Given the description of an element on the screen output the (x, y) to click on. 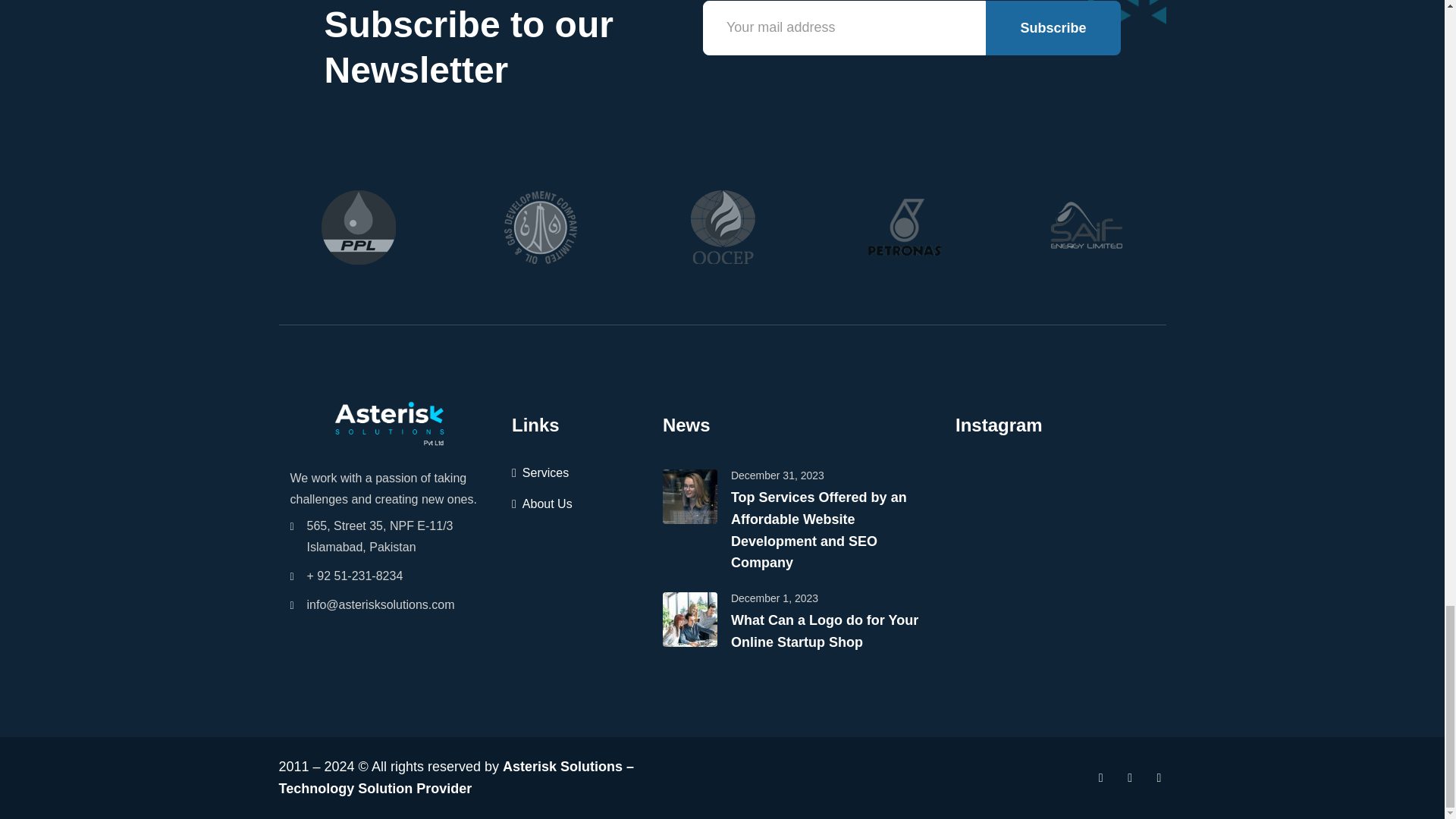
Subscribe (1052, 27)
